Given the description of an element on the screen output the (x, y) to click on. 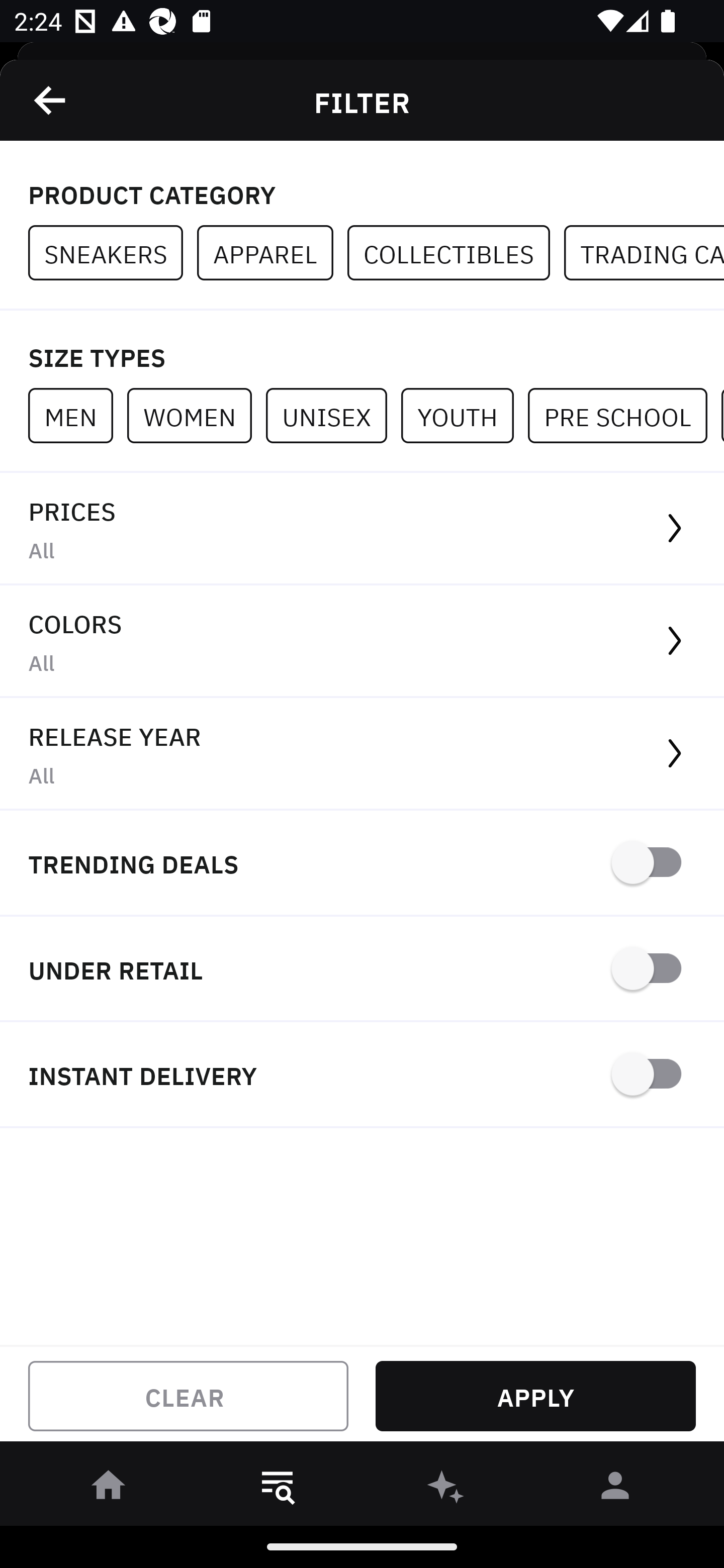
 (50, 100)
SNEAKERS (112, 252)
APPAREL (271, 252)
COLLECTIBLES (455, 252)
TRADING CARDS (643, 252)
MEN (77, 415)
WOMEN (196, 415)
UNISEX (333, 415)
YOUTH (464, 415)
PRE SCHOOL (624, 415)
PRICES All (362, 528)
COLORS All (362, 640)
RELEASE YEAR All (362, 753)
TRENDING DEALS (362, 863)
UNDER RETAIL (362, 969)
INSTANT DELIVERY (362, 1075)
CLEAR  (188, 1396)
APPLY (535, 1396)
󰋜 (108, 1488)
󱎸 (277, 1488)
󰫢 (446, 1488)
󰀄 (615, 1488)
